Given the description of an element on the screen output the (x, y) to click on. 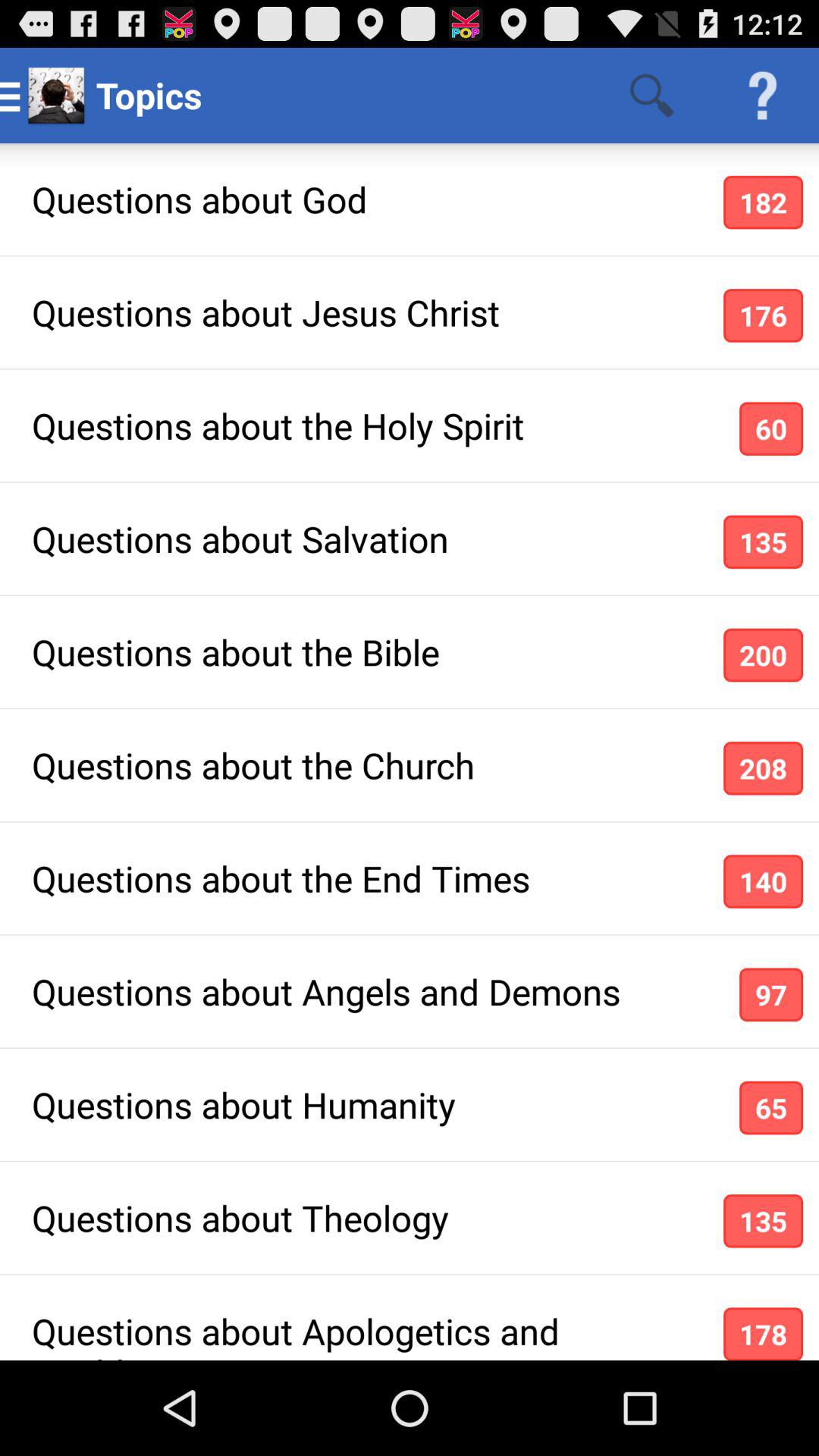
scroll to 60 item (771, 428)
